Given the description of an element on the screen output the (x, y) to click on. 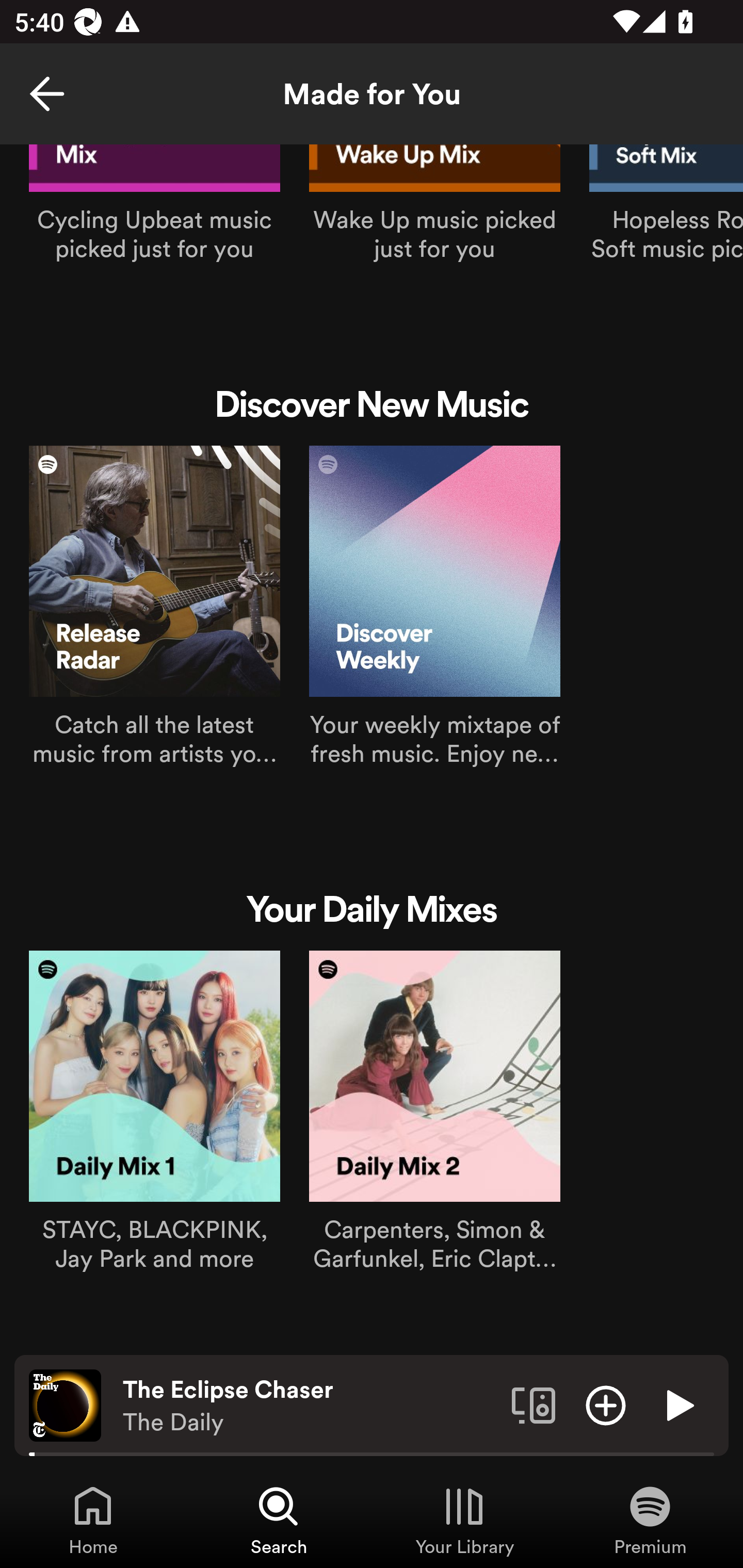
Back (46, 93)
The Eclipse Chaser The Daily (309, 1405)
The cover art of the currently playing track (64, 1404)
Connect to a device. Opens the devices menu (533, 1404)
Add item (605, 1404)
Play (677, 1404)
Home, Tab 1 of 4 Home Home (92, 1519)
Search, Tab 2 of 4 Search Search (278, 1519)
Your Library, Tab 3 of 4 Your Library Your Library (464, 1519)
Premium, Tab 4 of 4 Premium Premium (650, 1519)
